Given the description of an element on the screen output the (x, y) to click on. 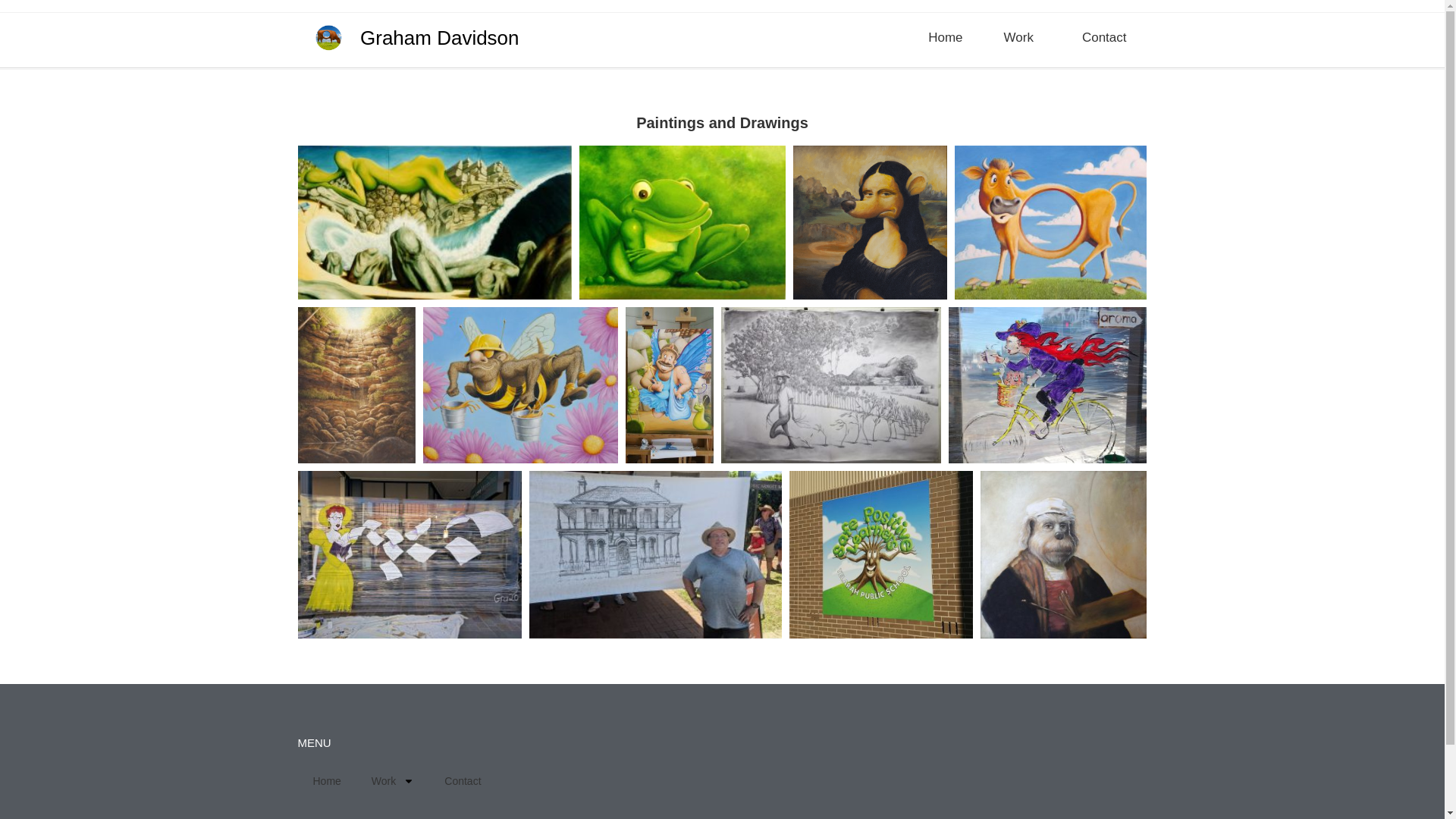
Home Element type: text (944, 37)
Contact Element type: text (1104, 37)
Contact Element type: text (462, 780)
Work Element type: text (392, 780)
Work Element type: text (1022, 37)
Home Element type: text (326, 780)
